Given the description of an element on the screen output the (x, y) to click on. 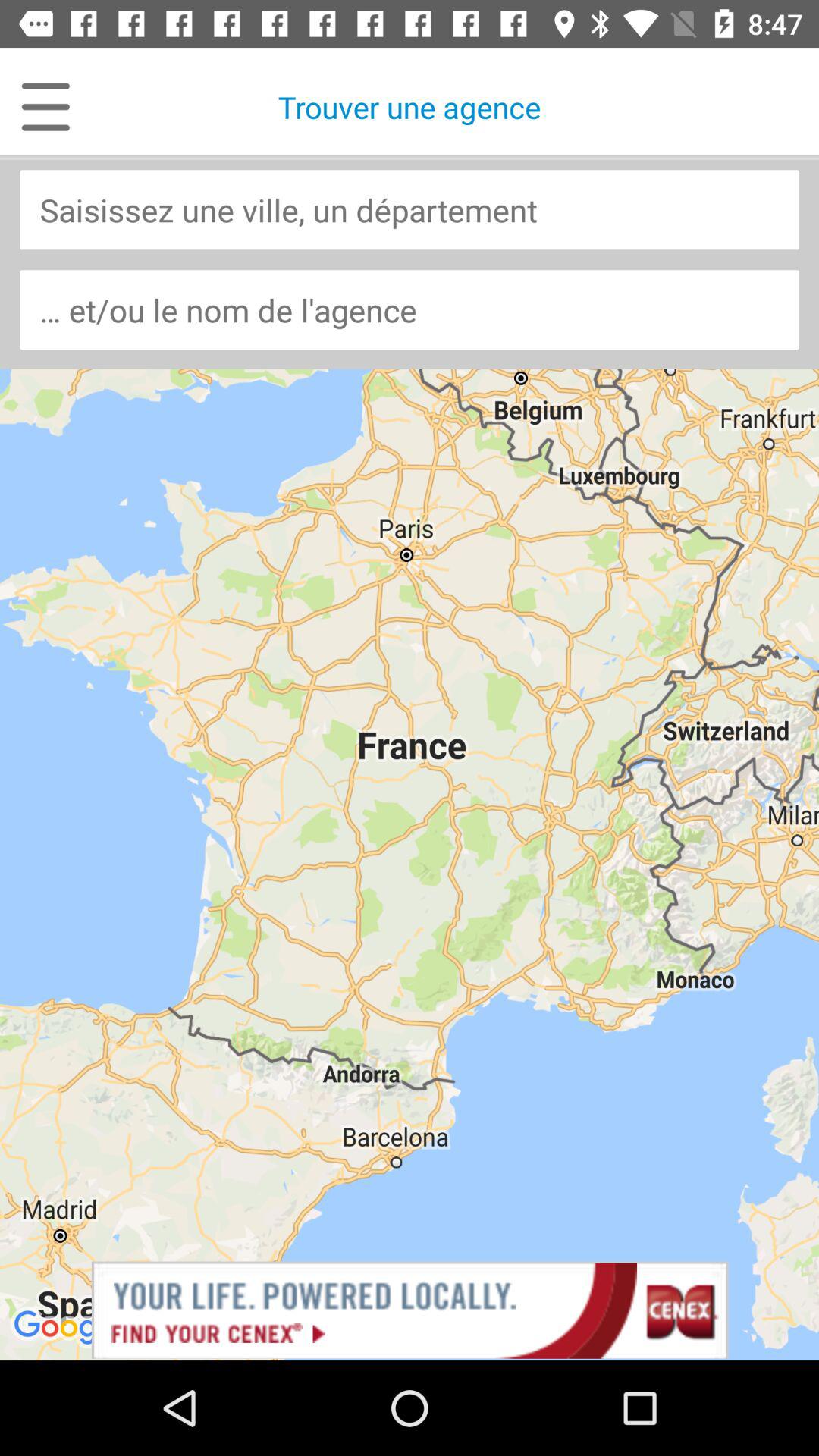
enter department (409, 209)
